Given the description of an element on the screen output the (x, y) to click on. 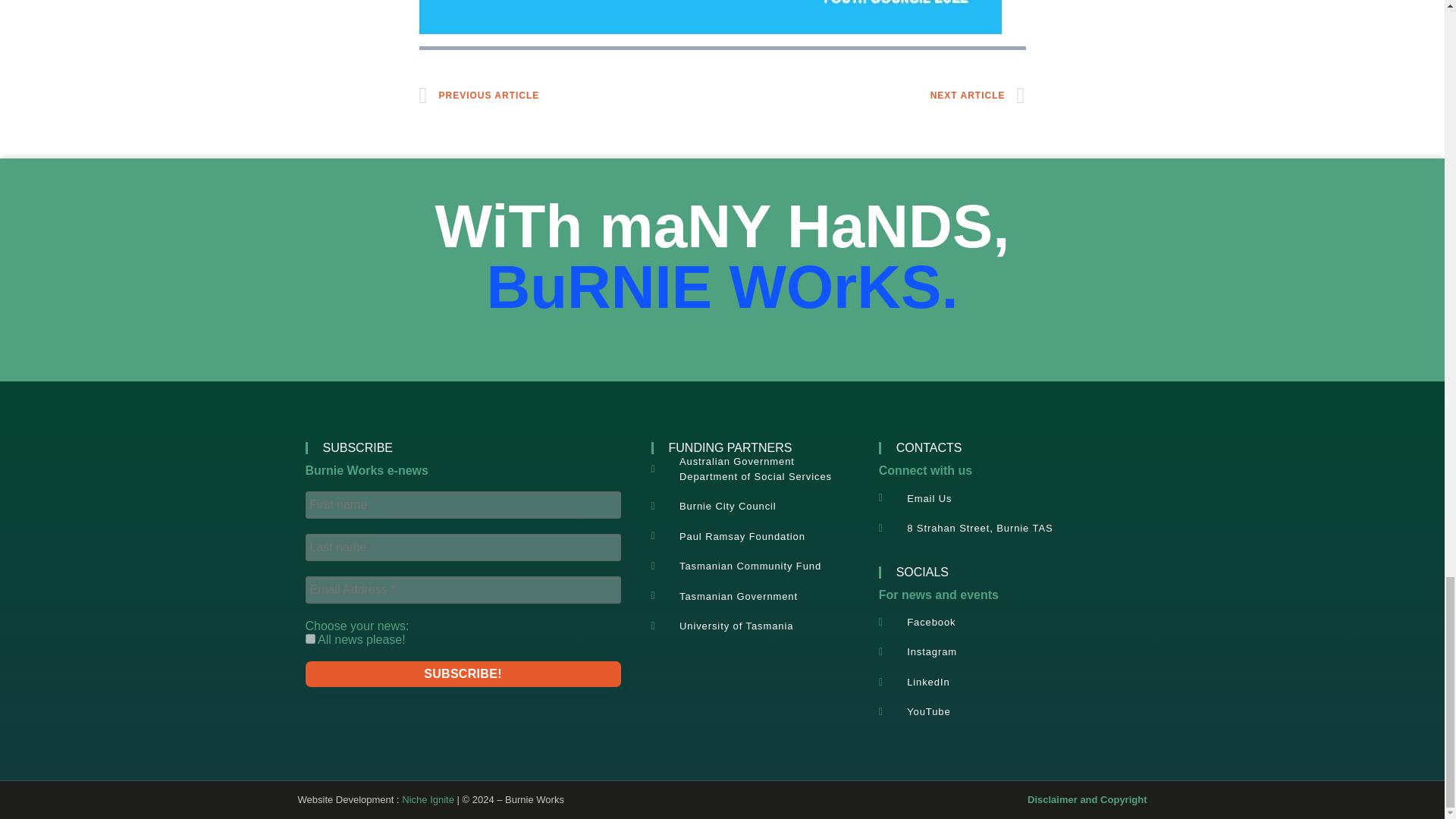
Niche Ignite - Web Design Tasmania (427, 799)
Email Address (462, 589)
First name (462, 504)
Last name (462, 547)
Subscribe! (462, 673)
11 (309, 638)
